Given the description of an element on the screen output the (x, y) to click on. 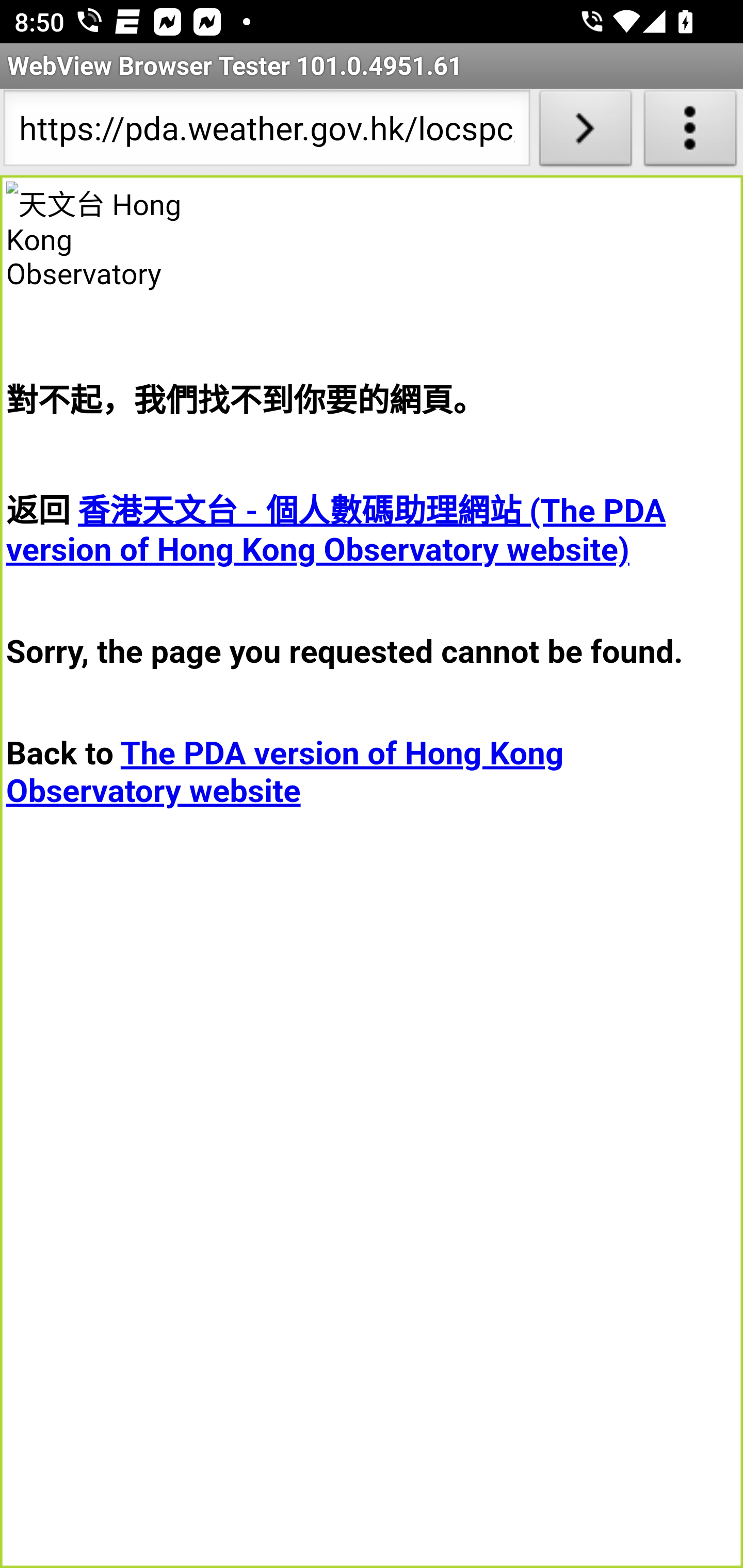
Load URL (585, 132)
About WebView (690, 132)
The PDA version of Hong Kong Observatory website (284, 771)
